Given the description of an element on the screen output the (x, y) to click on. 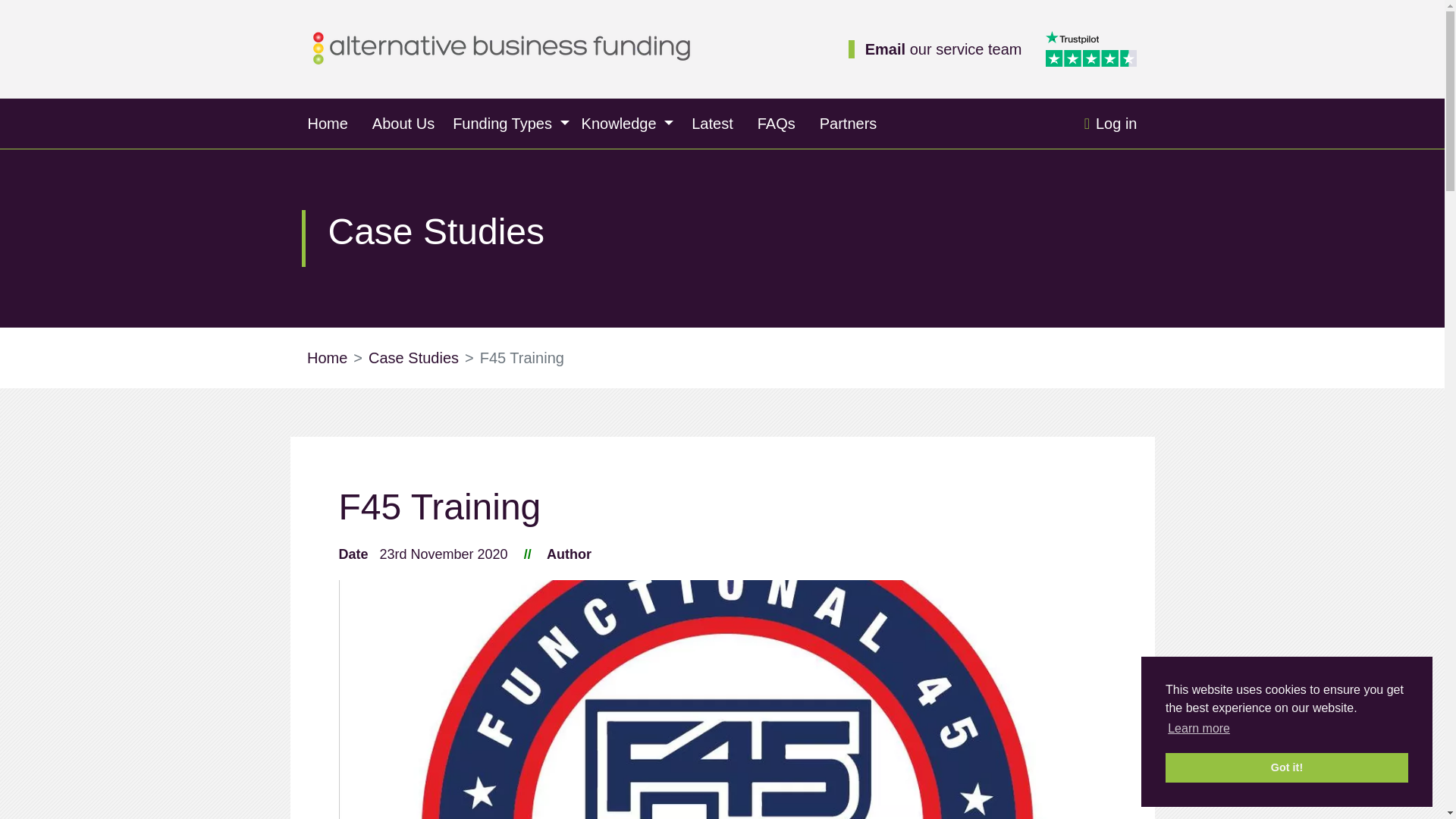
Funding Types (510, 123)
Email our service team (943, 48)
Home (327, 123)
About Us (403, 123)
Click to go to the home page (501, 46)
Got it! (1286, 767)
Customer reviews powered by Trustpilot (1093, 48)
Learn more (1198, 728)
